Given the description of an element on the screen output the (x, y) to click on. 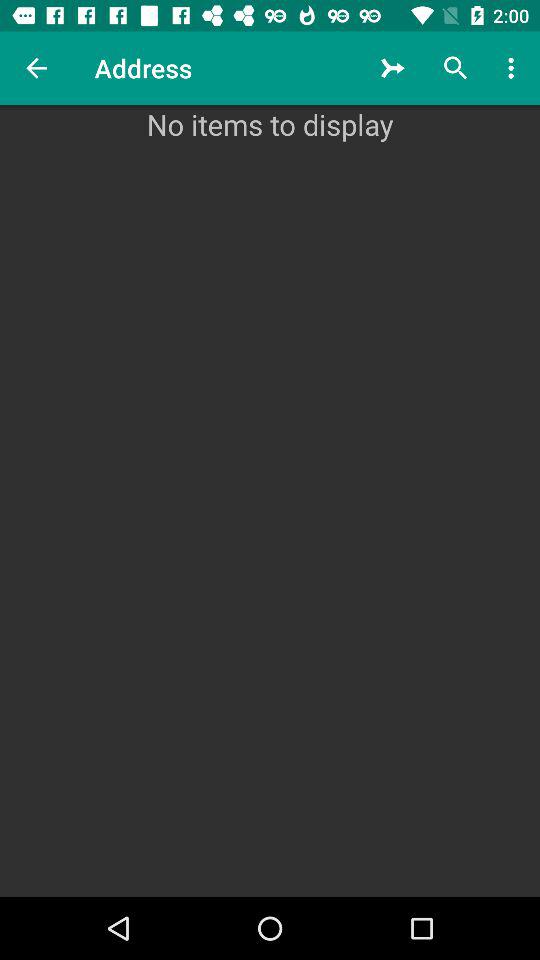
open the item above the no items to (513, 67)
